Given the description of an element on the screen output the (x, y) to click on. 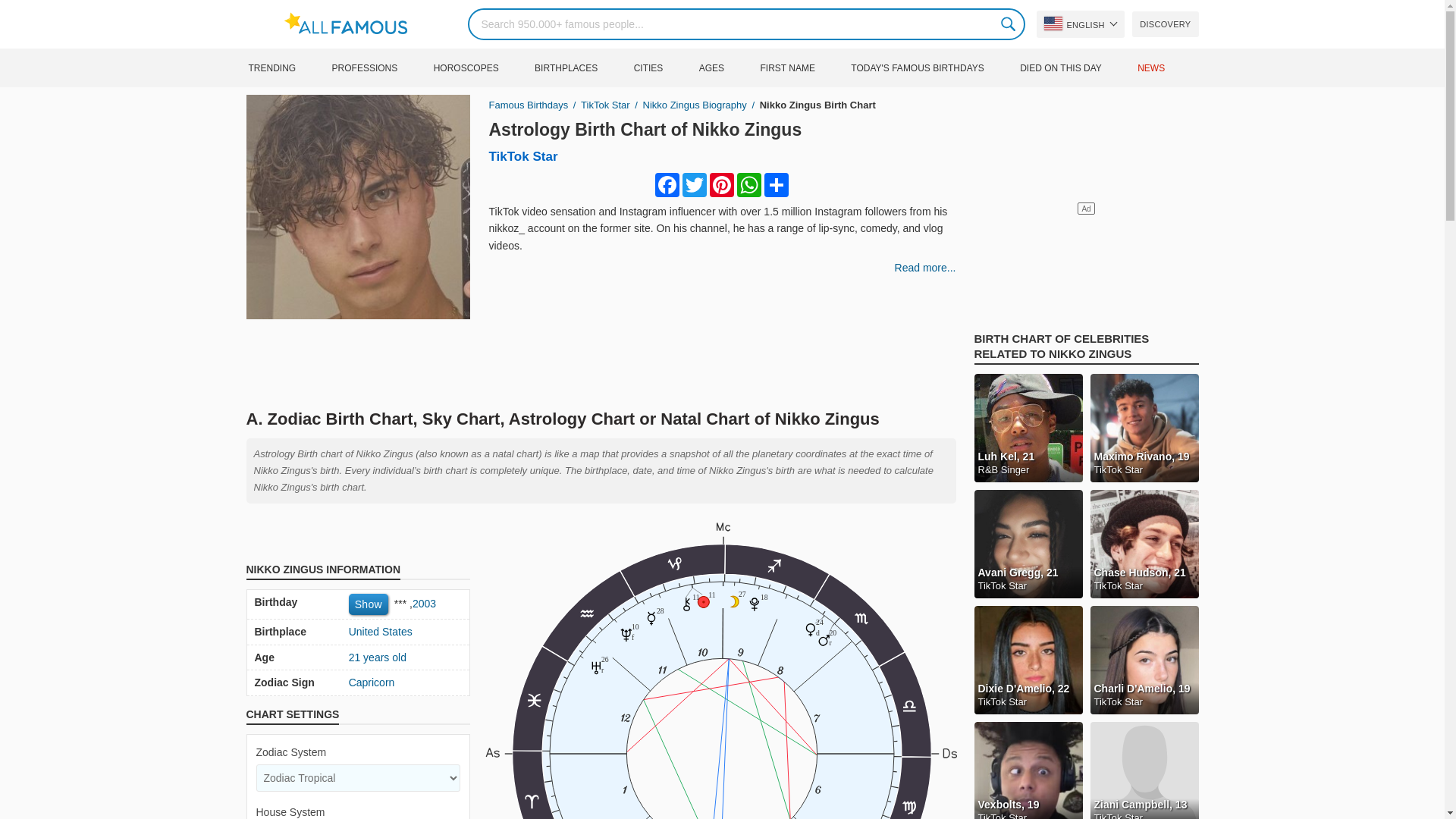
SEARCH (1008, 24)
TRENDING (287, 67)
BIRTHPLACES (581, 67)
CITIES (664, 67)
DISCOVERY (1165, 23)
FIRST NAME (802, 67)
Astrology Birth Chart of Nikko Zingus (932, 67)
ENGLISH (644, 129)
AllFamous.org (1080, 23)
NEWS (353, 23)
Advertisement (1166, 67)
DIED ON THIS DAY (600, 360)
AGES (1076, 67)
